Given the description of an element on the screen output the (x, y) to click on. 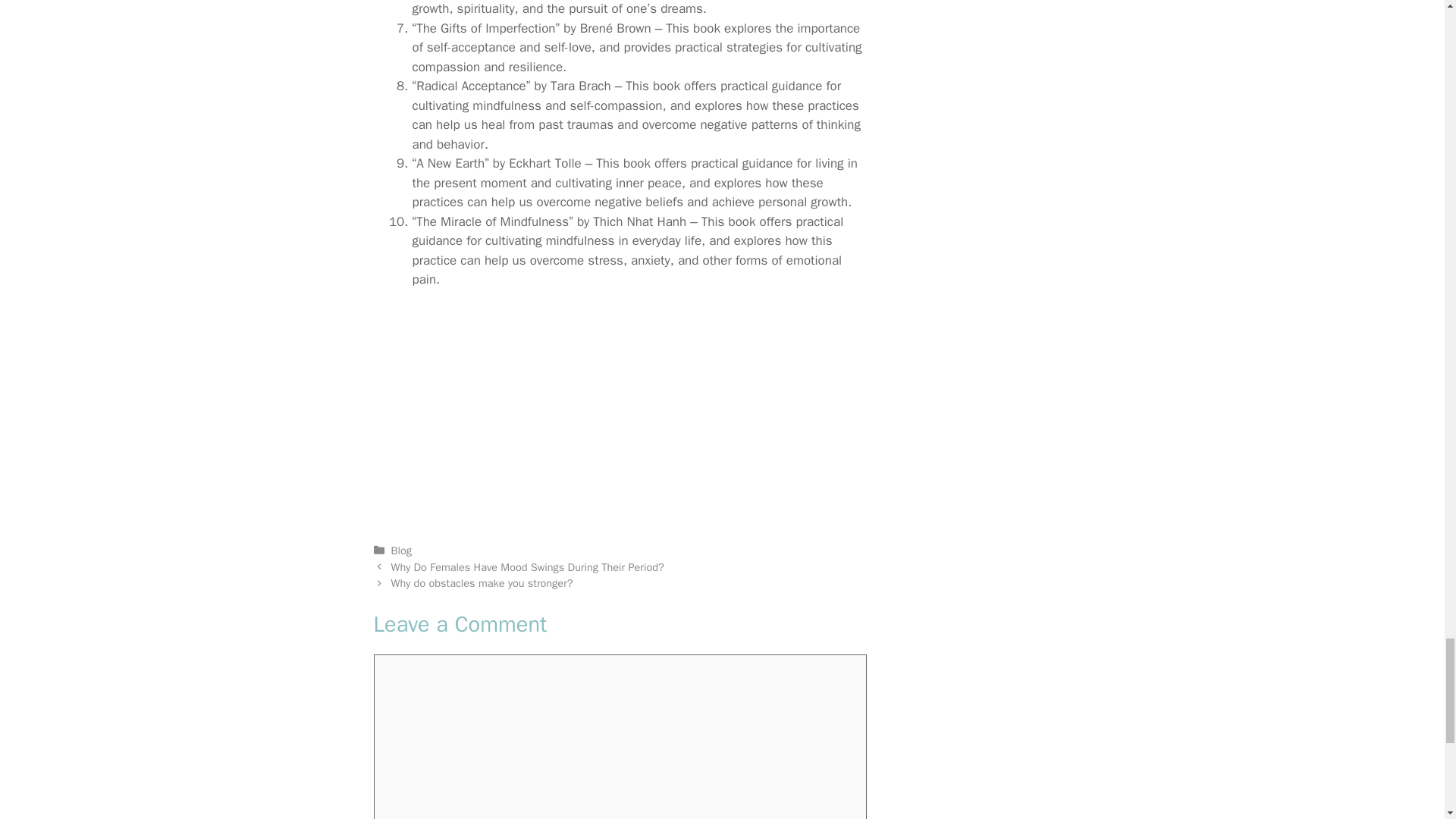
Blog (401, 550)
Why do obstacles make you stronger? (482, 582)
Why Do Females Have Mood Swings During Their Period? (527, 567)
